Given the description of an element on the screen output the (x, y) to click on. 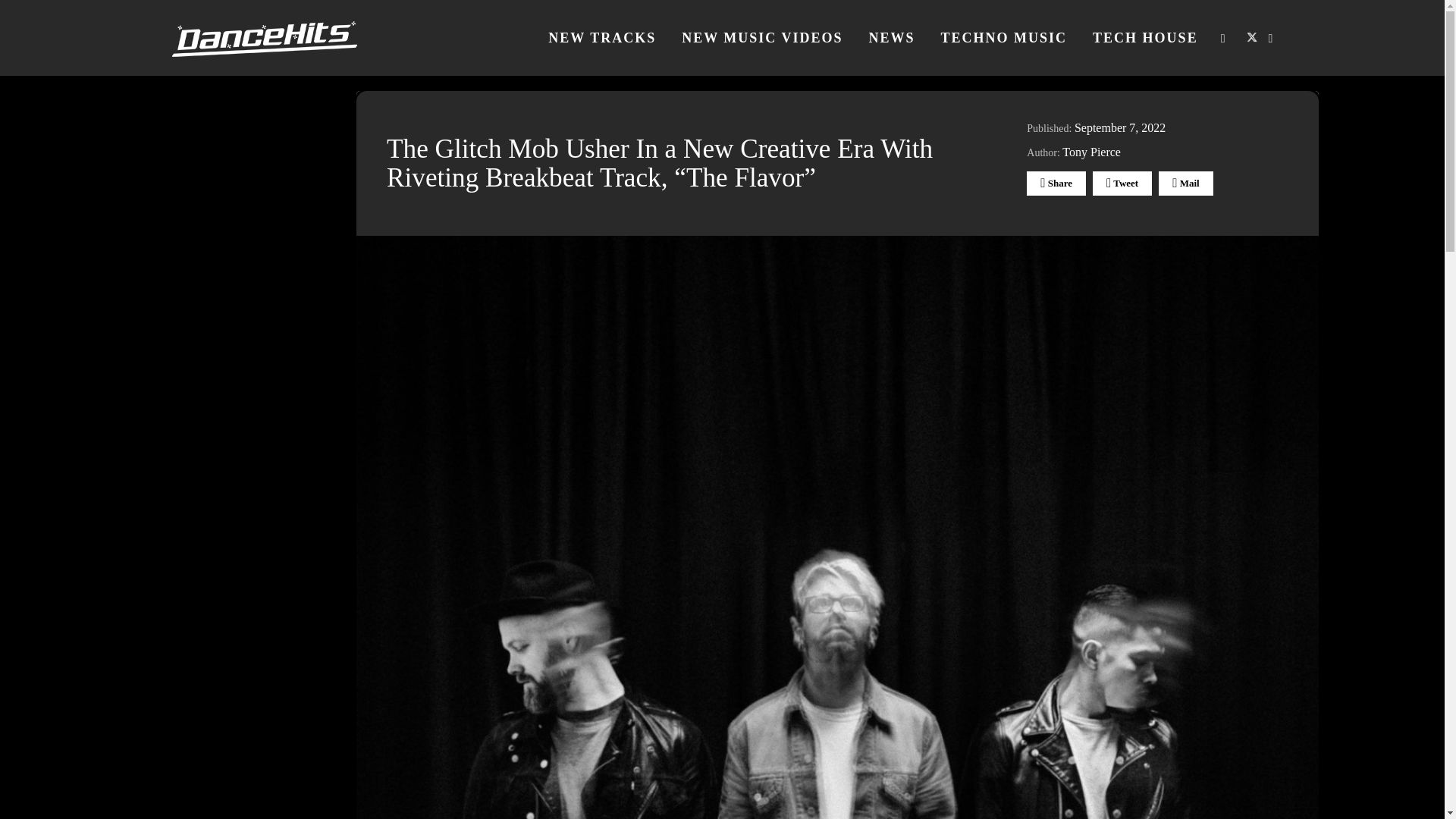
NEW TRACKS (601, 37)
Dance Hits (263, 37)
NEW MUSIC VIDEOS (761, 37)
Tweet (1122, 183)
Share via Twitter (1122, 183)
TECH HOUSE (1145, 37)
Share via Facebook (1056, 183)
Mail (1185, 183)
Share (1056, 183)
TECHNO MUSIC (1004, 37)
Share via Email (1185, 183)
Tony Pierce (1091, 151)
Tony Pierce (1091, 151)
